Given the description of an element on the screen output the (x, y) to click on. 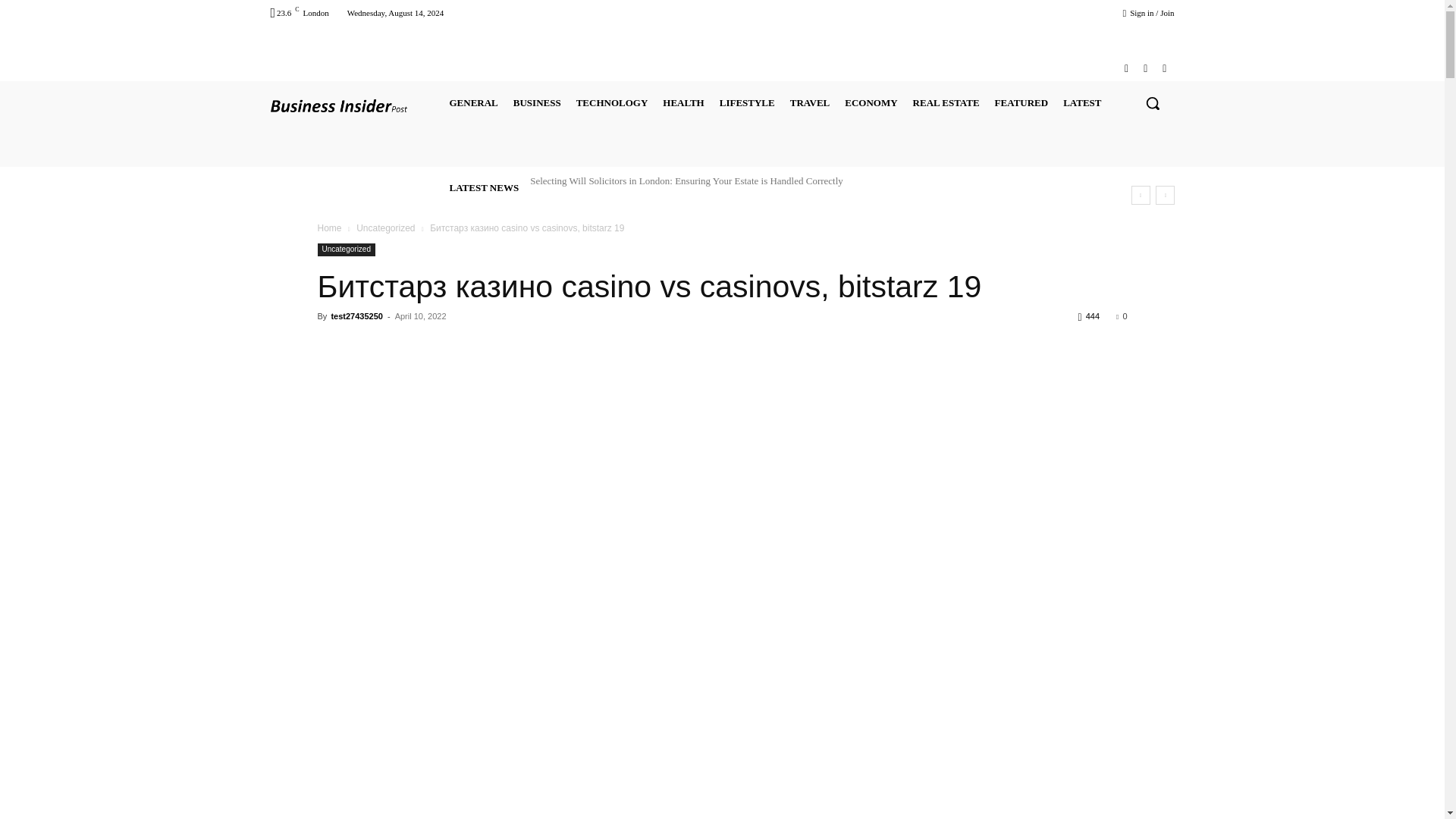
REAL ESTATE (946, 102)
TECHNOLOGY (611, 102)
LIFESTYLE (746, 102)
HEALTH (683, 102)
TRAVEL (809, 102)
ECONOMY (870, 102)
GENERAL (472, 102)
BUSINESS (536, 102)
